Given the description of an element on the screen output the (x, y) to click on. 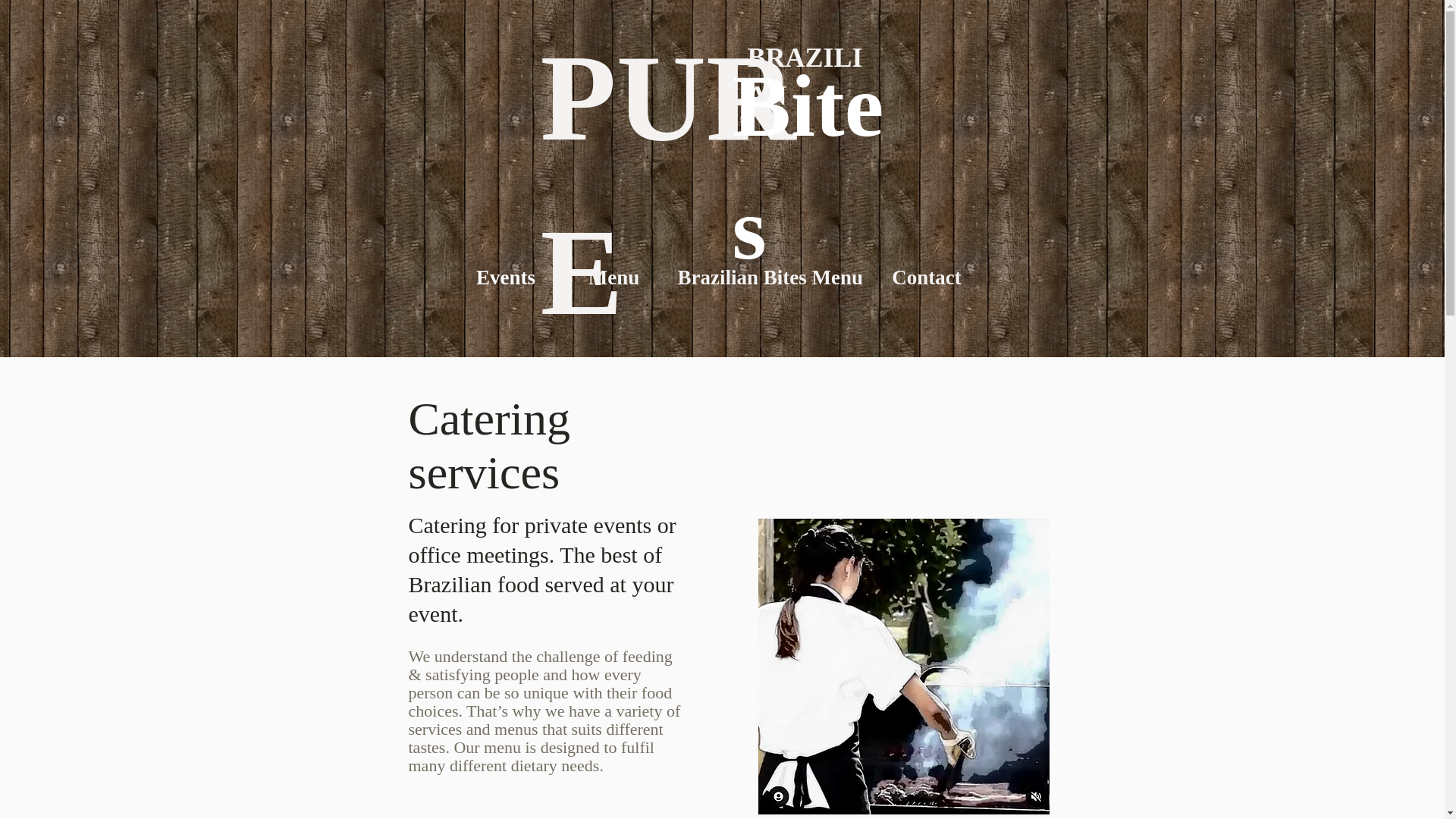
Brazilian Bites Menu (765, 277)
Contact (926, 277)
Menu (612, 277)
Events (505, 277)
